Given the description of an element on the screen output the (x, y) to click on. 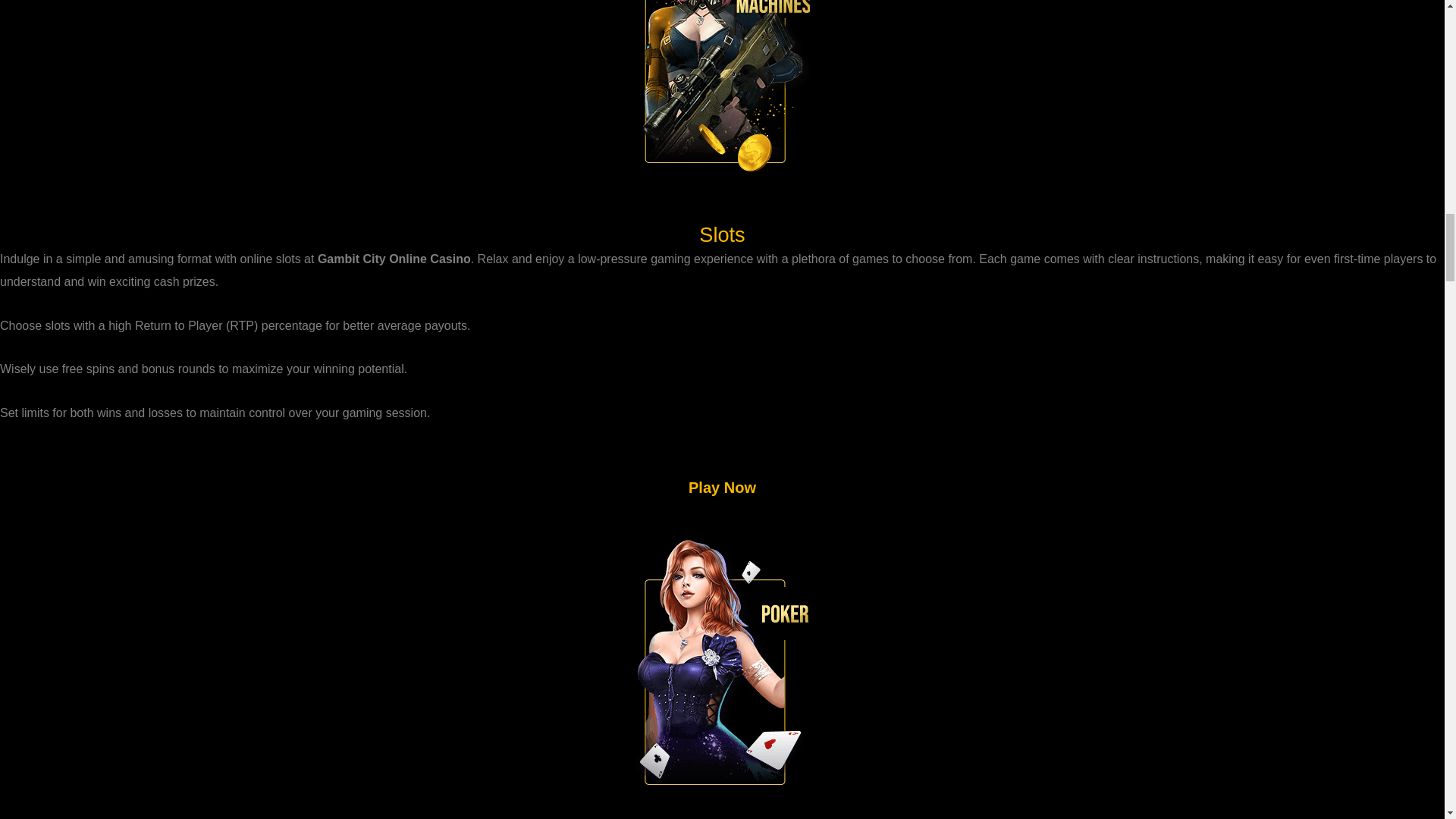
Play Now (721, 501)
